Given the description of an element on the screen output the (x, y) to click on. 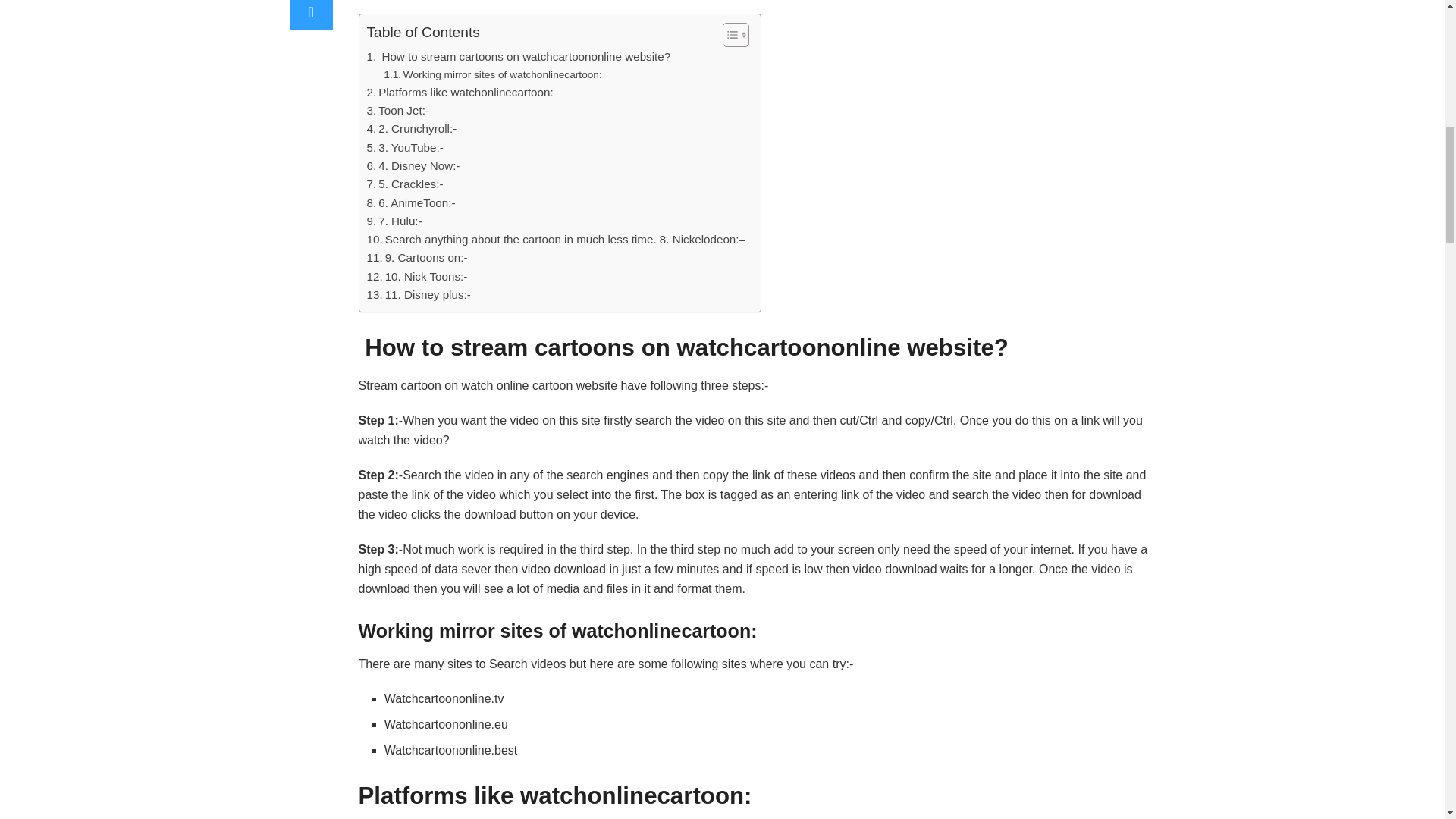
7. Hulu:- (394, 221)
10. Nick Toons:- (416, 276)
3. YouTube:- (405, 147)
6. AnimeToon:- (410, 203)
 How to stream cartoons on watchcartoononline website? (518, 56)
2. Crunchyroll:- (411, 128)
Working mirror sites of watchonlinecartoon: (492, 74)
9. Cartoons on:- (416, 257)
4. Disney Now:- (413, 166)
